Given the description of an element on the screen output the (x, y) to click on. 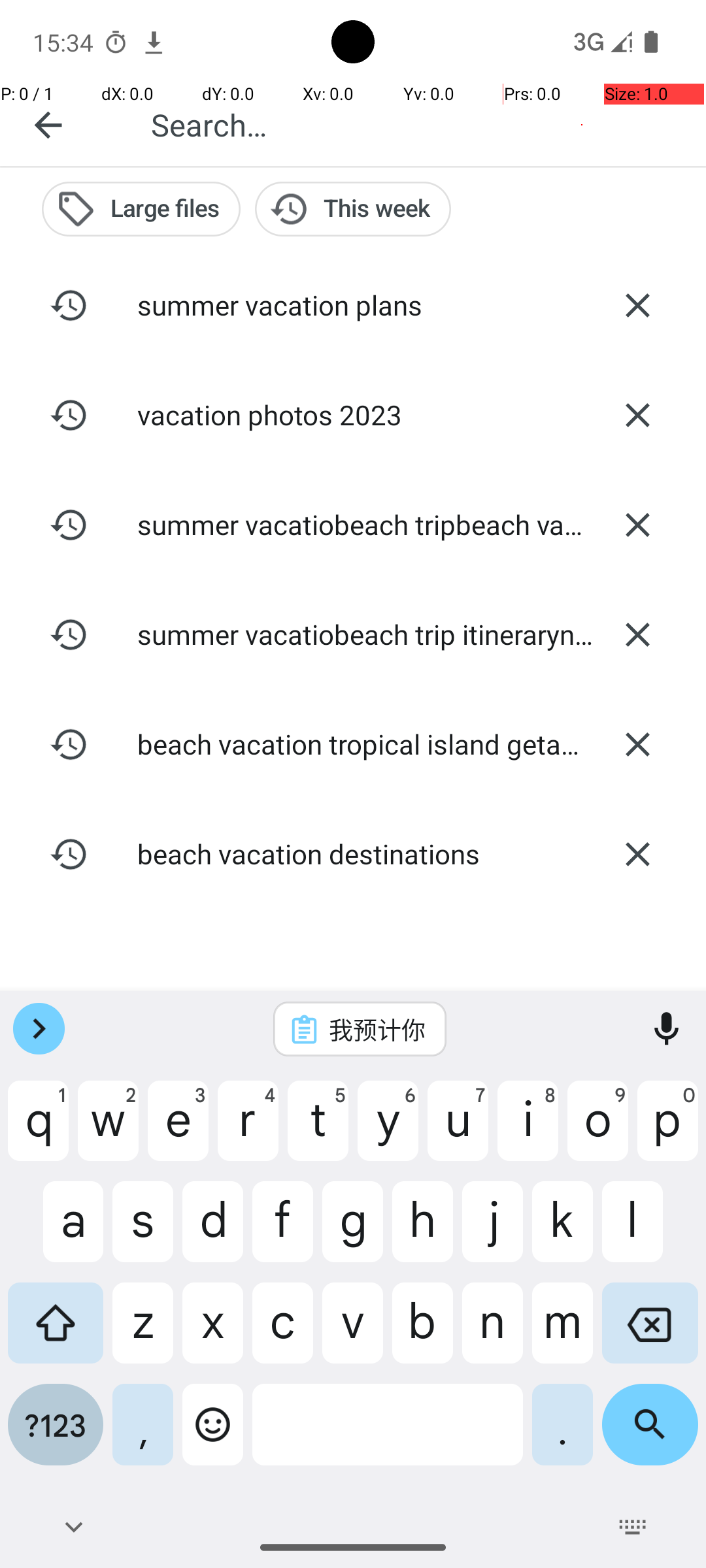
summer vacation plans Element type: android.widget.TextView (352, 304)
Delete search history summer vacation plans Element type: android.widget.ImageView (637, 304)
vacation photos 2023 Element type: android.widget.TextView (352, 414)
Delete search history vacation photos 2023 Element type: android.widget.ImageView (637, 414)
summer vacatiobeach tripbeach vacation packing list itineraryn plans Element type: android.widget.TextView (352, 523)
Delete search history summer vacatiobeach tripbeach vacation packing list itineraryn plans Element type: android.widget.ImageView (637, 524)
summer vacatiobeach trip itineraryn plans Element type: android.widget.TextView (352, 633)
Delete search history summer vacatiobeach trip itineraryn plans Element type: android.widget.ImageView (637, 634)
beach vacation tropical island getawaysdestinations Element type: android.widget.TextView (352, 743)
Delete search history beach vacation tropical island getawaysdestinations Element type: android.widget.ImageView (637, 743)
beach vacation destinations Element type: android.widget.TextView (352, 853)
Delete search history beach vacation destinations Element type: android.widget.ImageView (637, 853)
我预计你 Element type: android.widget.TextView (376, 1028)
Chrome notification: www.espn.com Element type: android.widget.ImageView (153, 41)
